Given the description of an element on the screen output the (x, y) to click on. 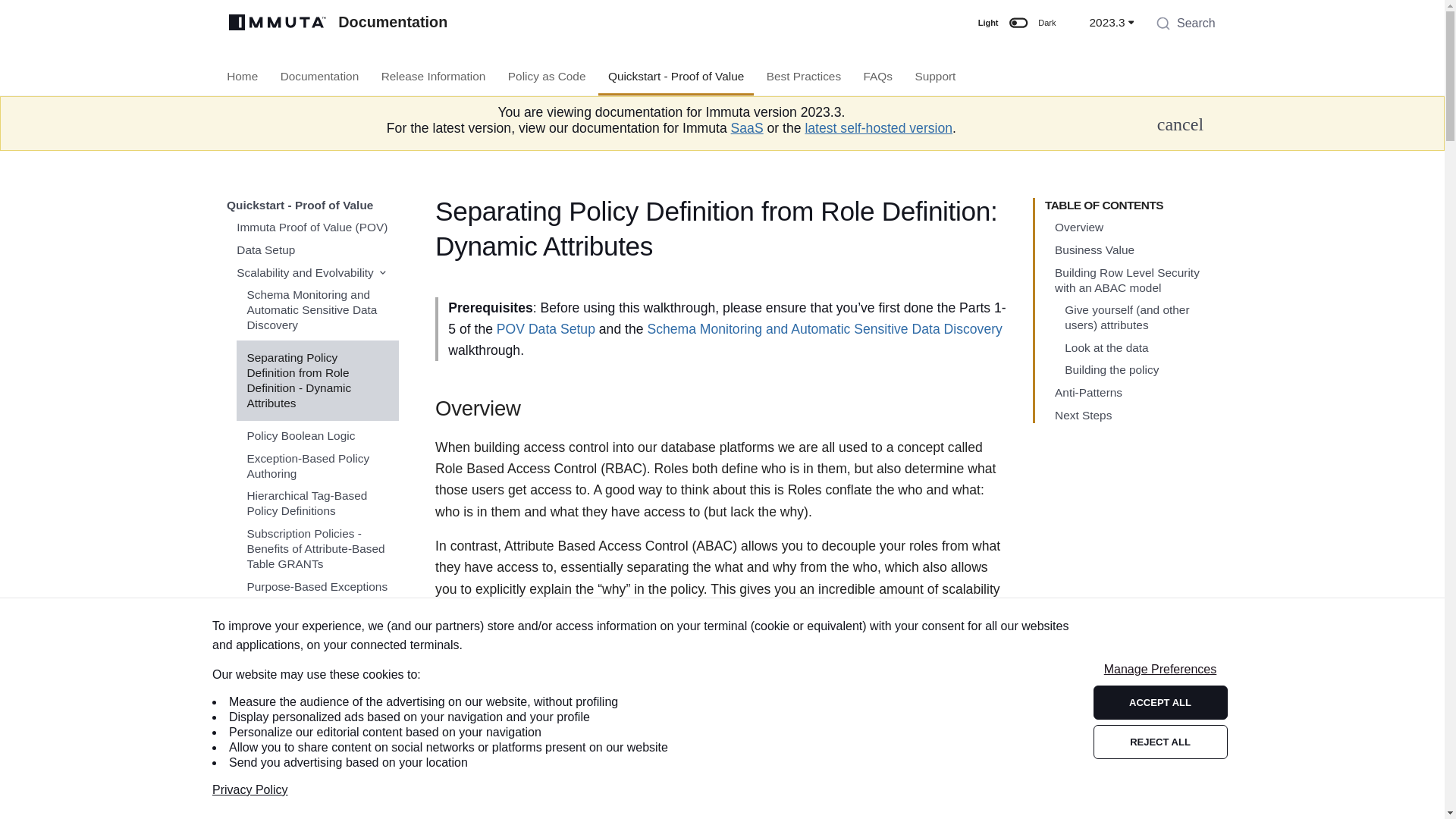
Release Information (433, 76)
Switch to dark mode (1018, 22)
Support (934, 76)
Quickstart - Proof of Value (676, 76)
Documentation (320, 76)
latest self-hosted version (878, 127)
Policy as Code (547, 76)
REJECT ALL (1160, 741)
Home (242, 76)
Release Information (433, 76)
